Given the description of an element on the screen output the (x, y) to click on. 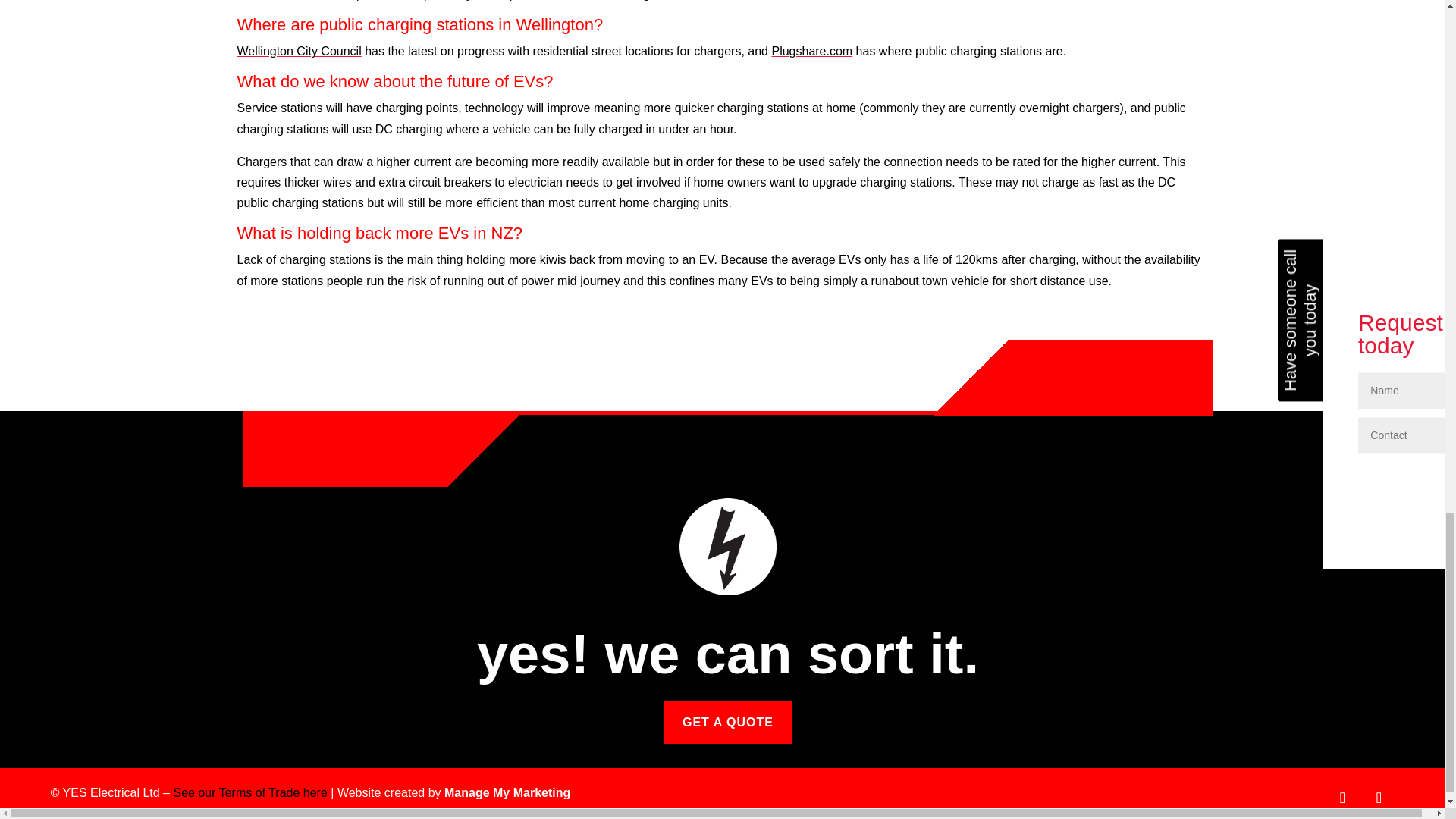
Wellington City Council (298, 51)
Plugshare.com (811, 51)
Follow on Instagram (1377, 797)
Manage My Marketing (507, 792)
See our Terms of Trade here (249, 792)
GET A QUOTE (727, 722)
121x121 (727, 546)
Follow on Facebook (1341, 797)
